Given the description of an element on the screen output the (x, y) to click on. 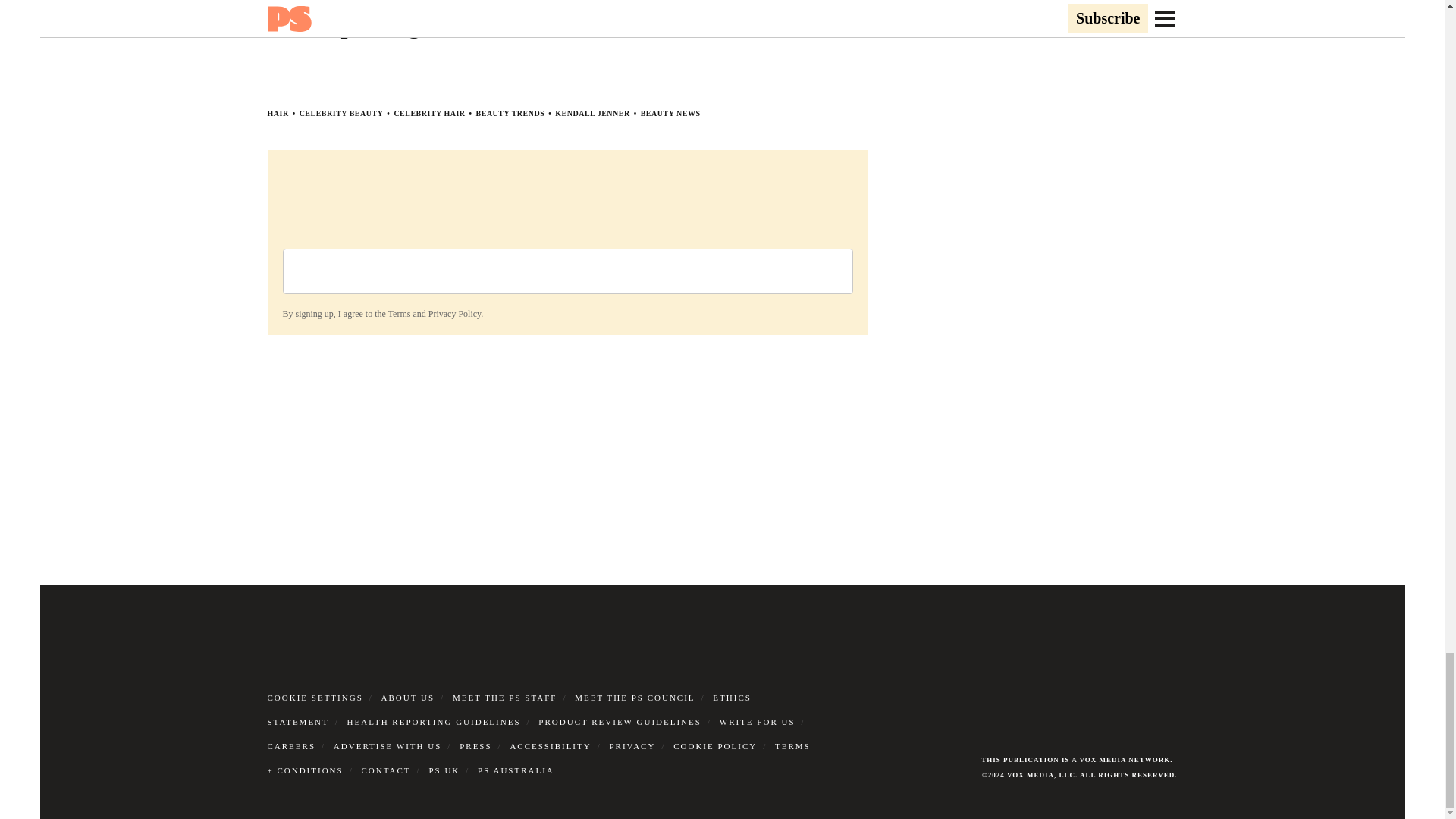
Terms (399, 313)
MEET THE PS STAFF (504, 697)
HEALTH REPORTING GUIDELINES (434, 721)
BEAUTY TRENDS (510, 112)
HAIR (277, 112)
MEET THE PS COUNCIL (634, 697)
ADVERTISE WITH US (387, 746)
BEAUTY NEWS (670, 112)
KENDALL JENNER (591, 112)
CAREERS (290, 746)
PRESS (476, 746)
WRITE FOR US (756, 721)
ABOUT US (408, 697)
PRODUCT REVIEW GUIDELINES (619, 721)
CELEBRITY BEAUTY (341, 112)
